Given the description of an element on the screen output the (x, y) to click on. 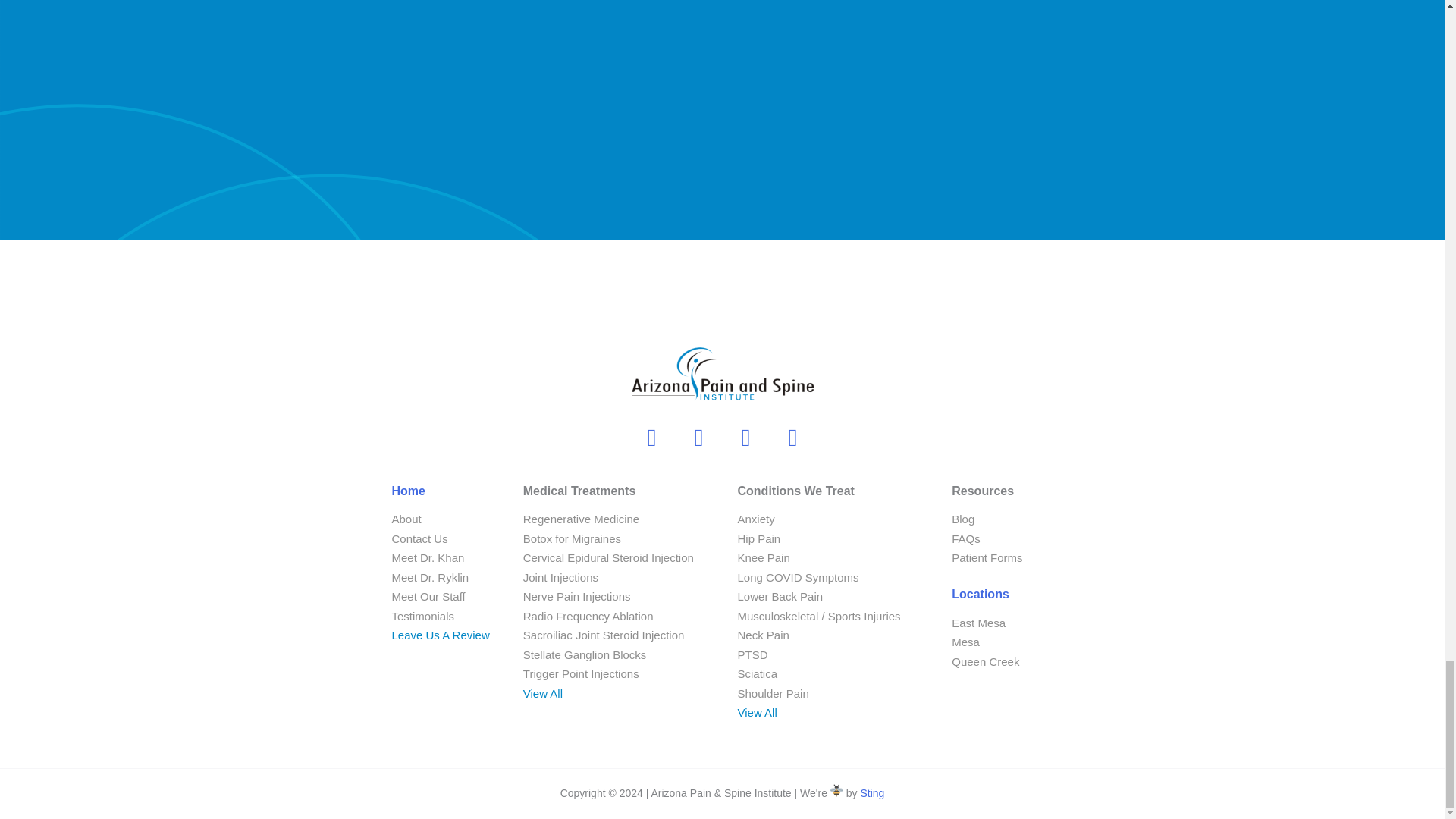
TikTok (792, 437)
Facebook (699, 437)
Youtube (651, 437)
GPA Logo (721, 374)
